Given the description of an element on the screen output the (x, y) to click on. 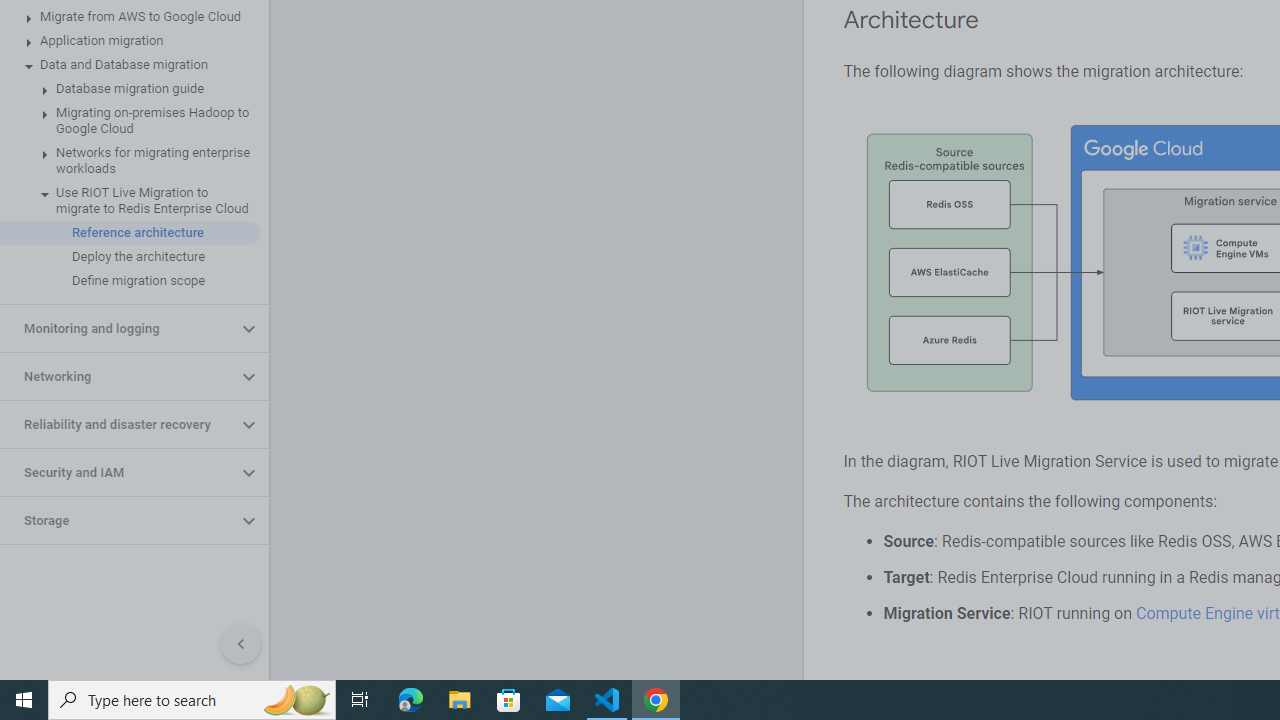
Storage (118, 520)
Reference architecture (130, 232)
Deploy the architecture (130, 256)
